Given the description of an element on the screen output the (x, y) to click on. 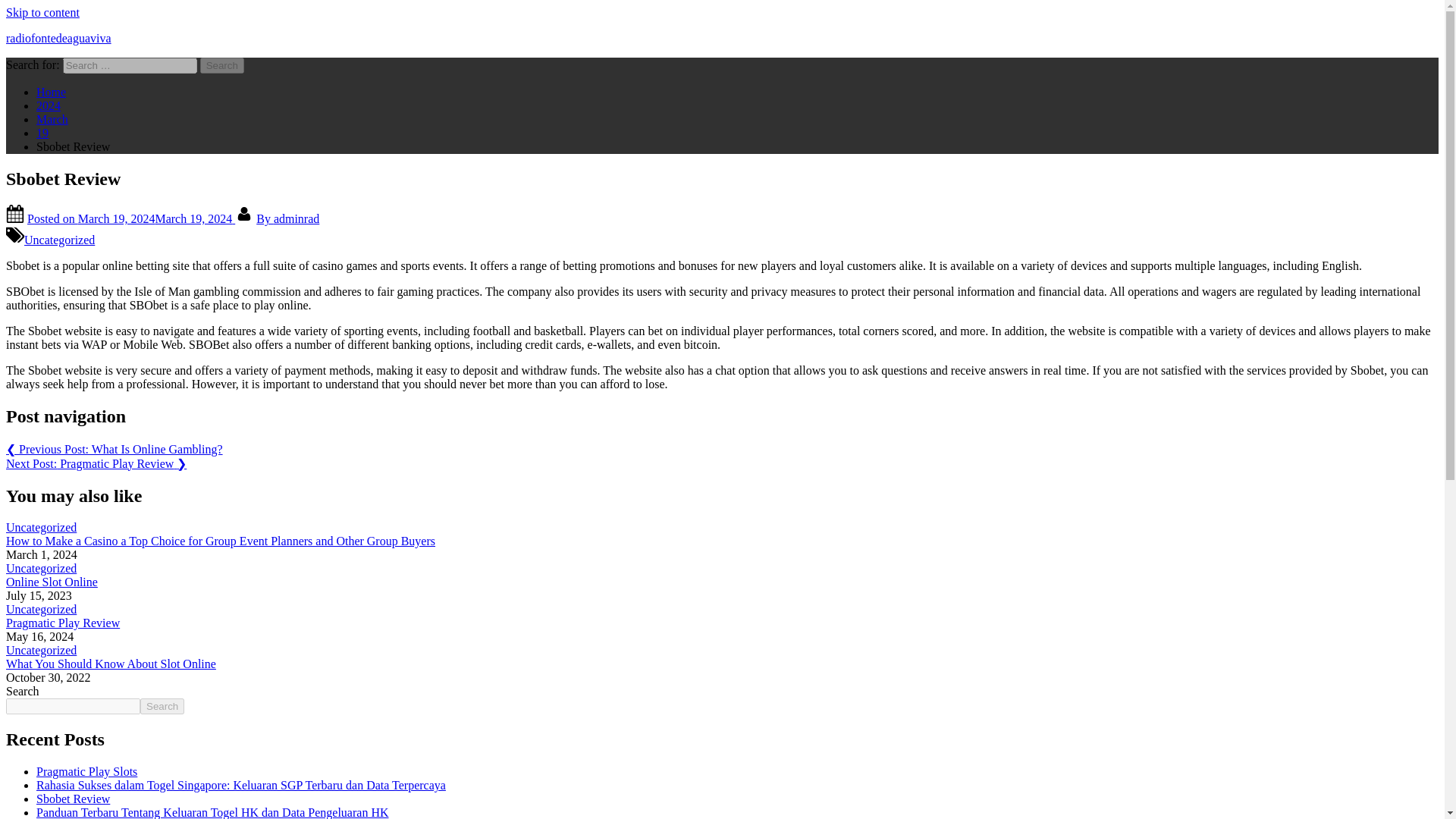
Search (222, 65)
Pragmatic Play Slots (86, 771)
Pragmatic Play Review (62, 622)
Posted on March 19, 2024March 19, 2024 (130, 218)
Online Slot Online (51, 581)
March (52, 119)
Home (50, 91)
Uncategorized (59, 239)
Uncategorized (41, 567)
radiofontedeaguaviva (58, 38)
Search (161, 706)
Skip to content (42, 11)
